Given the description of an element on the screen output the (x, y) to click on. 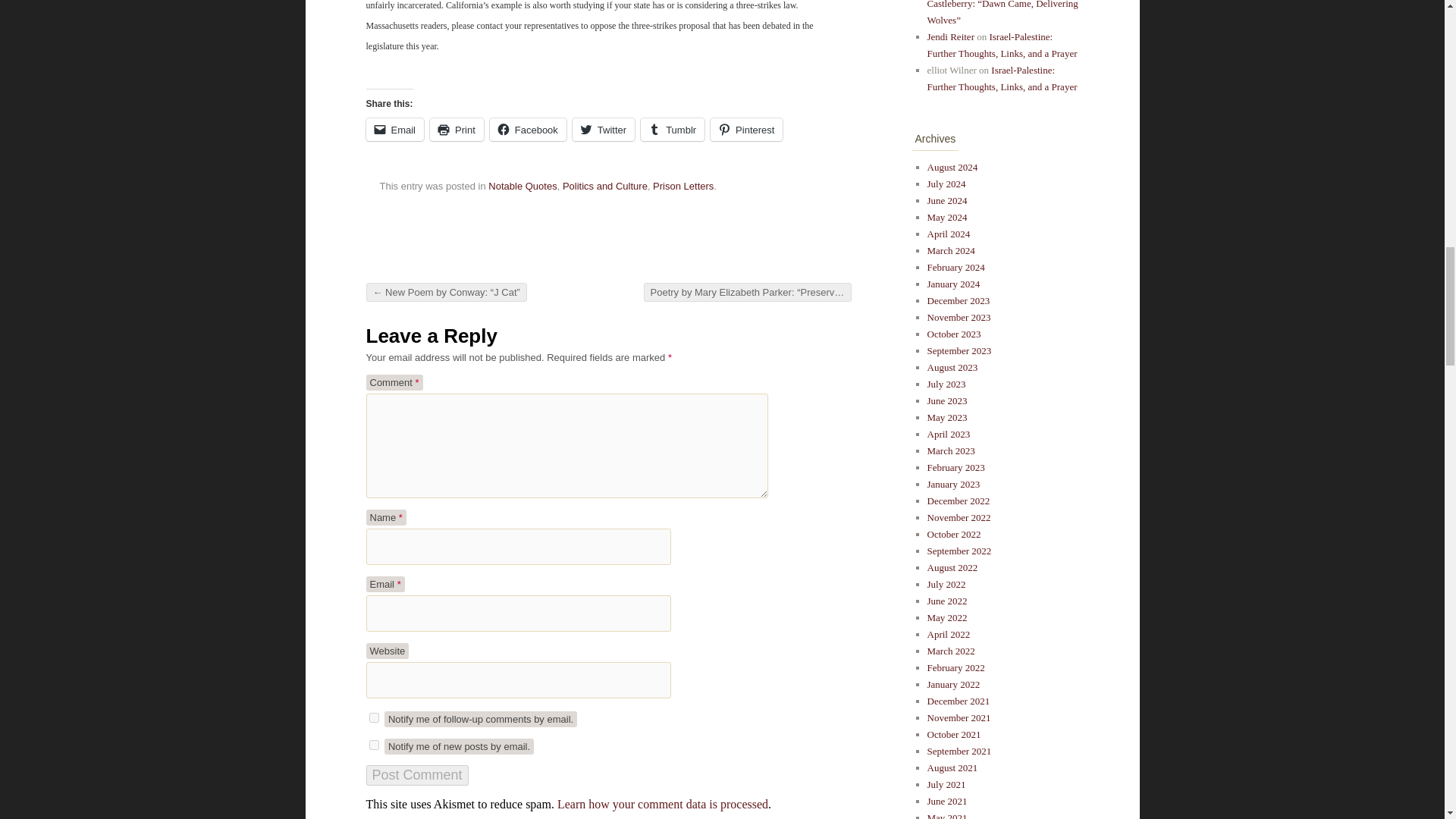
Politics and Culture (604, 185)
Prison Letters (682, 185)
Twitter (603, 128)
Post Comment (416, 774)
Post Comment (416, 774)
Click to email a link to a friend (394, 128)
Click to print (456, 128)
subscribe (373, 745)
subscribe (373, 717)
Click to share on Twitter (603, 128)
